Given the description of an element on the screen output the (x, y) to click on. 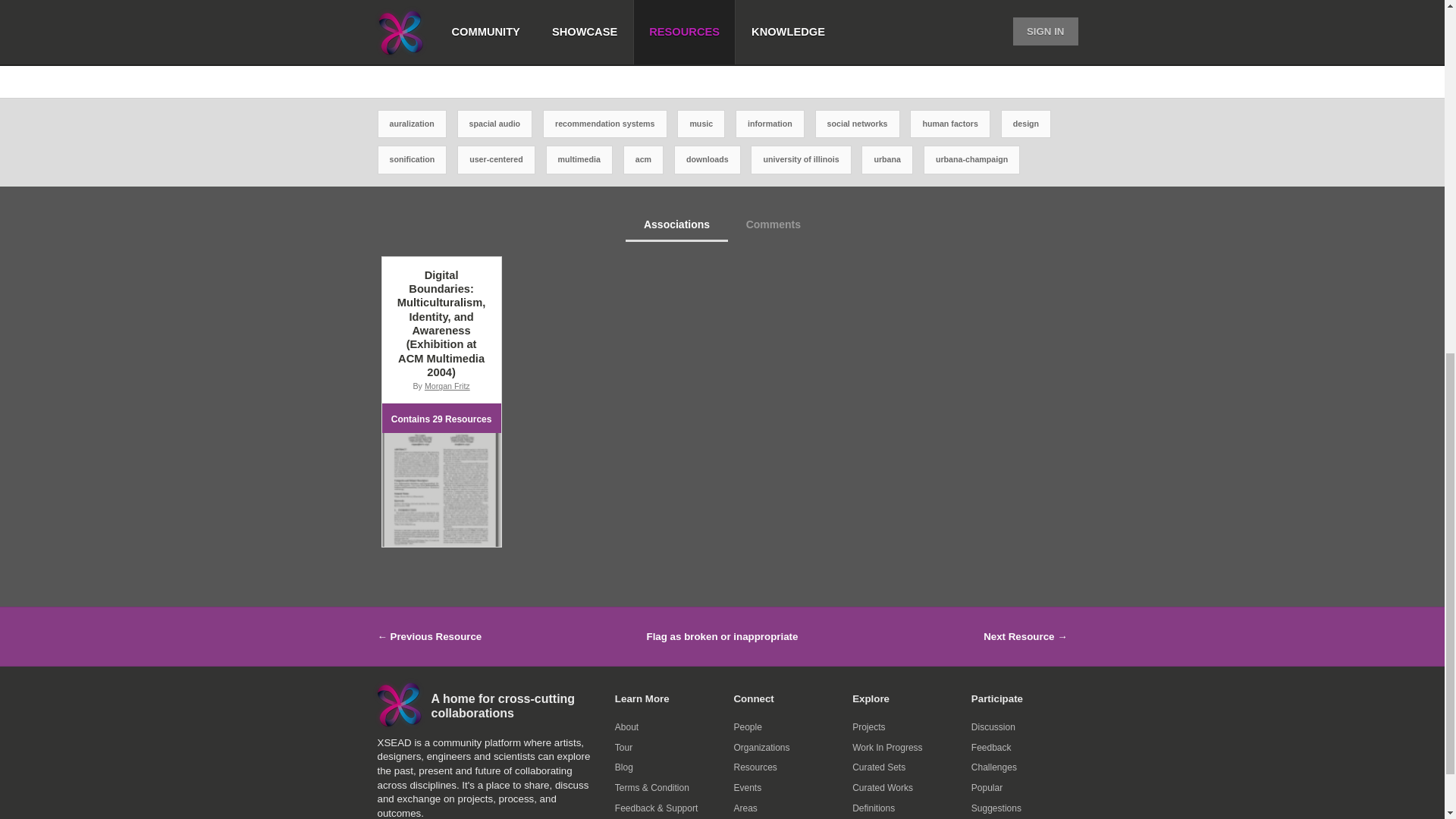
auralization (411, 123)
spacial audio (495, 123)
